Given the description of an element on the screen output the (x, y) to click on. 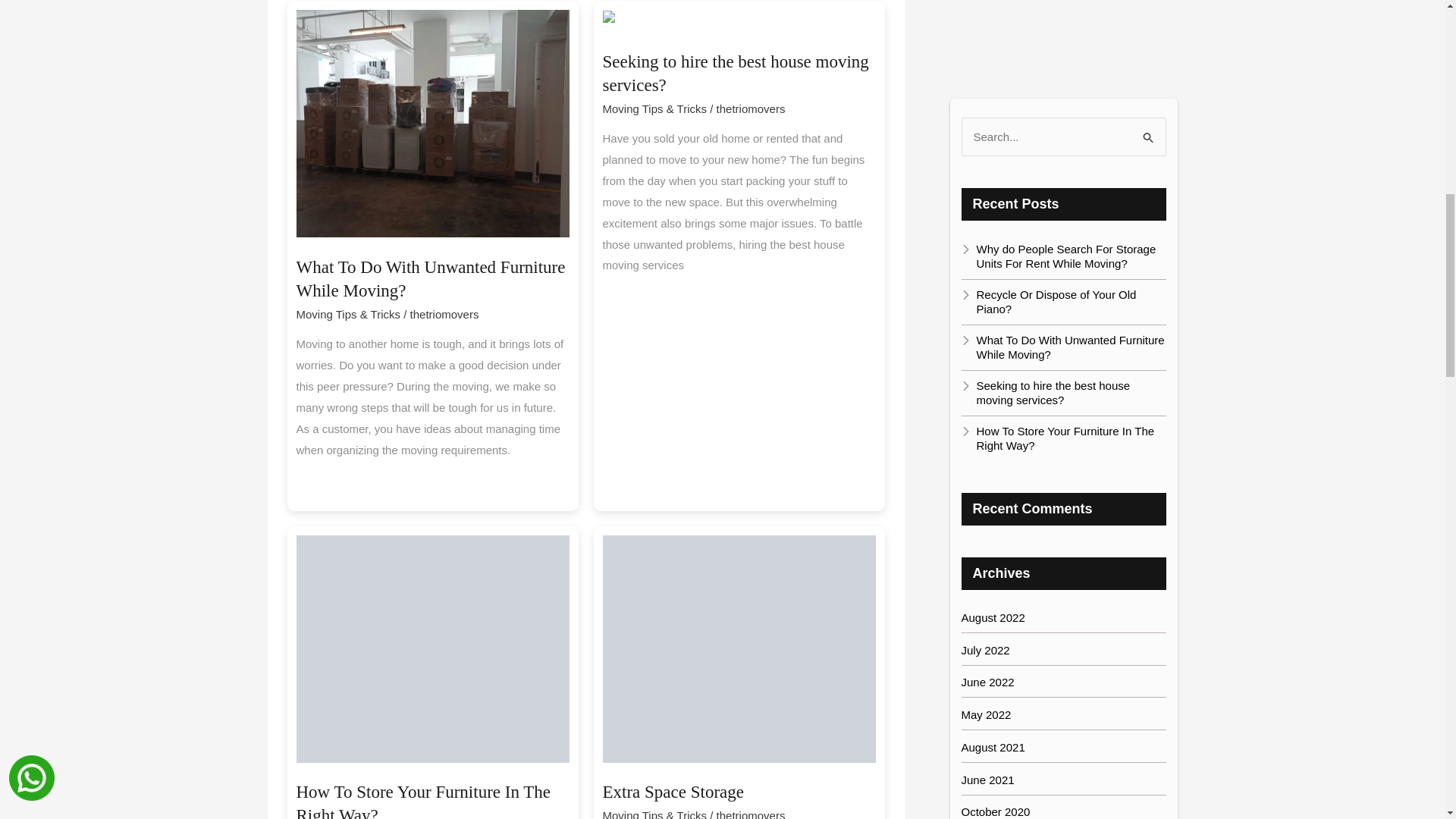
View all posts by thetriomovers (751, 814)
Seeking to hire the best house moving services? 10 (734, 20)
Extra Space Storage 16 (738, 648)
How To Store Your Furniture In The Right Way? 13 (432, 648)
What To Do With Unwanted Furniture While Moving? 7 (432, 123)
View all posts by thetriomovers (751, 108)
View all posts by thetriomovers (444, 314)
